Given the description of an element on the screen output the (x, y) to click on. 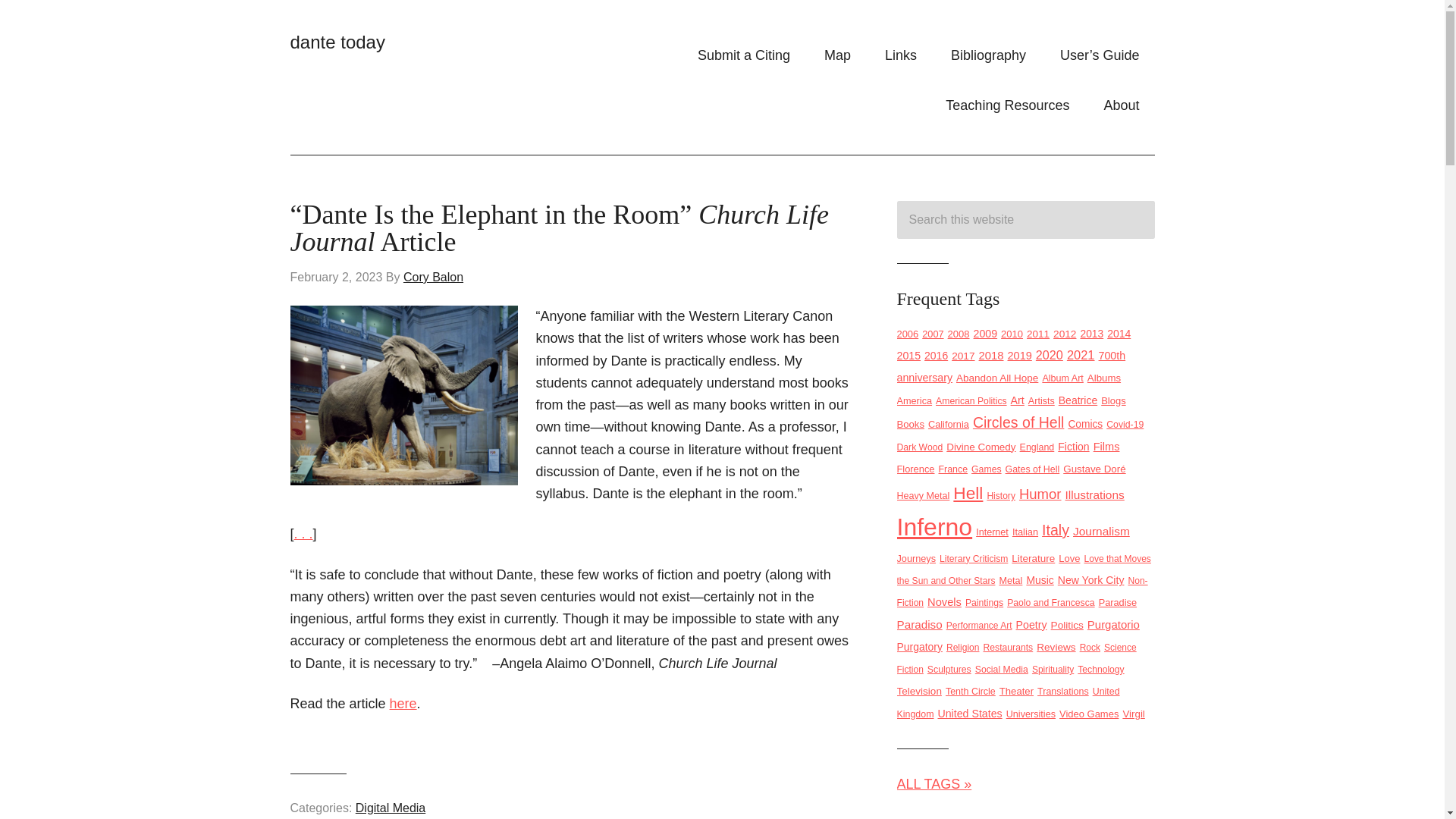
84 topics (1037, 333)
178 topics (1048, 354)
About (1120, 105)
here (403, 703)
63 topics (907, 333)
120 topics (1019, 355)
Submit a Citing (743, 55)
Teaching Resources (1007, 105)
. . . (303, 533)
188 topics (1080, 354)
130 topics (991, 355)
Bibliography (988, 55)
66 topics (958, 333)
108 topics (985, 333)
